Given the description of an element on the screen output the (x, y) to click on. 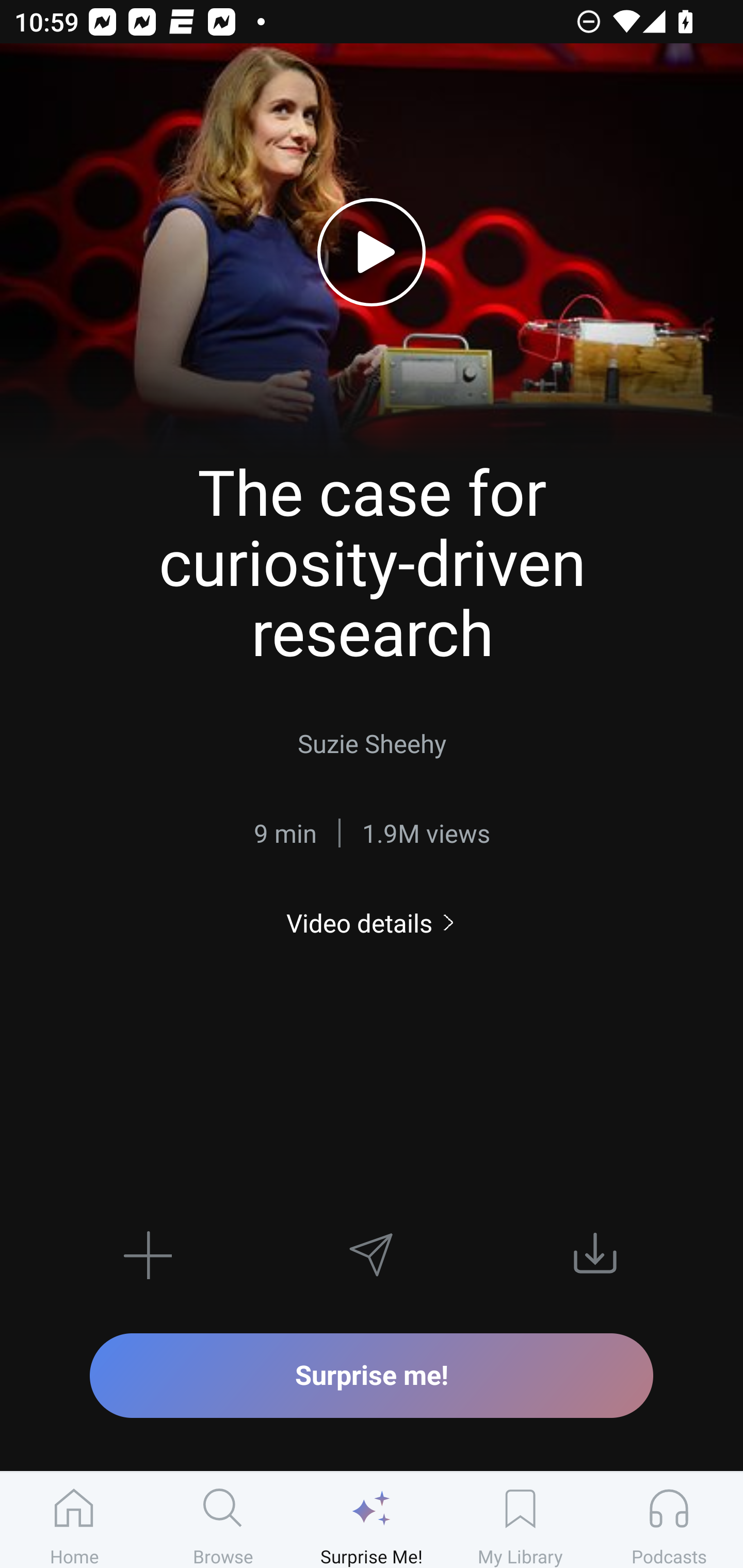
Video details (371, 922)
Surprise me! (371, 1374)
Home (74, 1520)
Browse (222, 1520)
Surprise Me! (371, 1520)
My Library (519, 1520)
Podcasts (668, 1520)
